Given the description of an element on the screen output the (x, y) to click on. 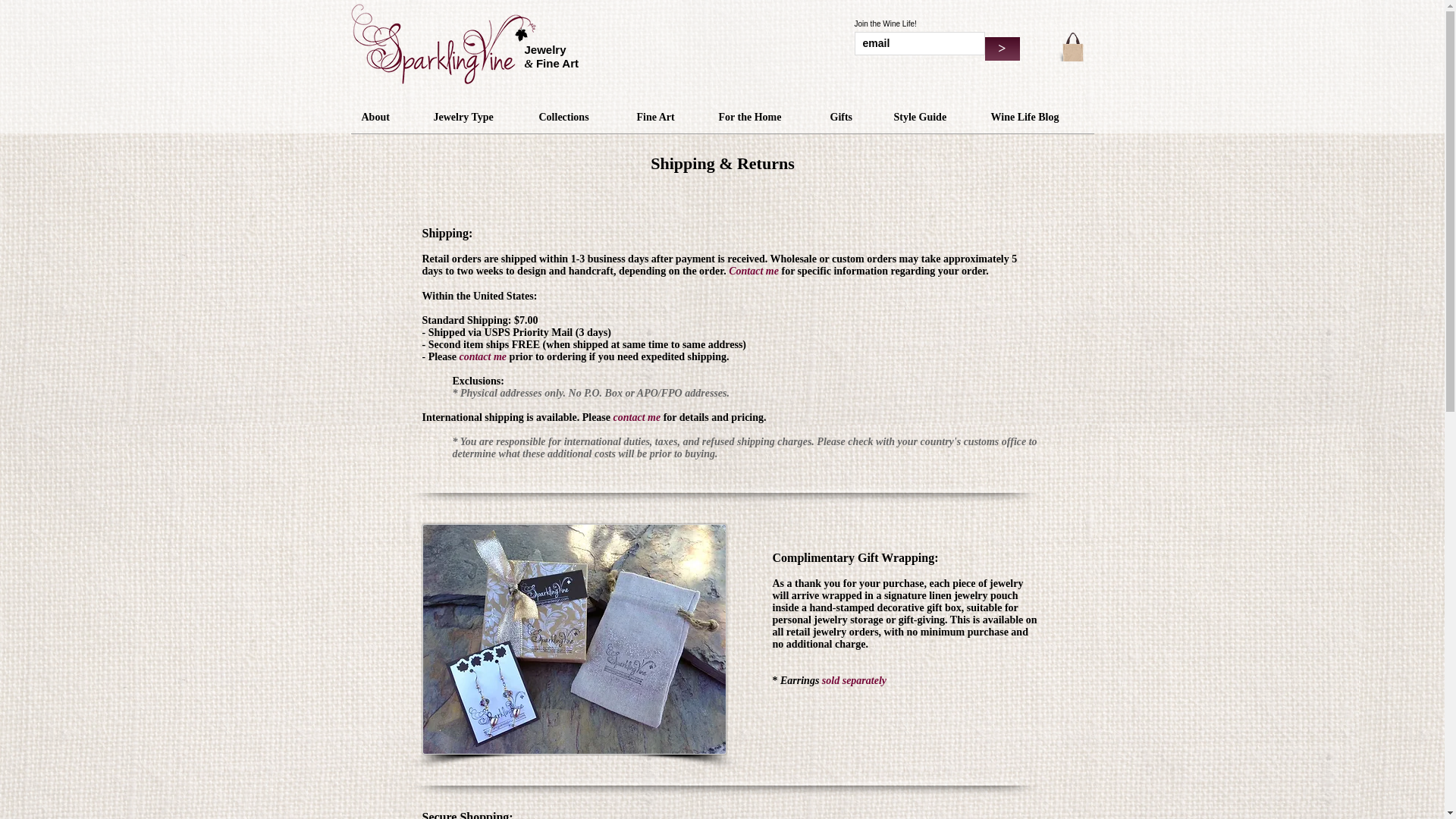
Jewelry Type (475, 117)
Fine Art (666, 117)
Collections (576, 117)
Contact me (753, 270)
Wine Life Blog (1036, 117)
For the Home (763, 117)
